Given the description of an element on the screen output the (x, y) to click on. 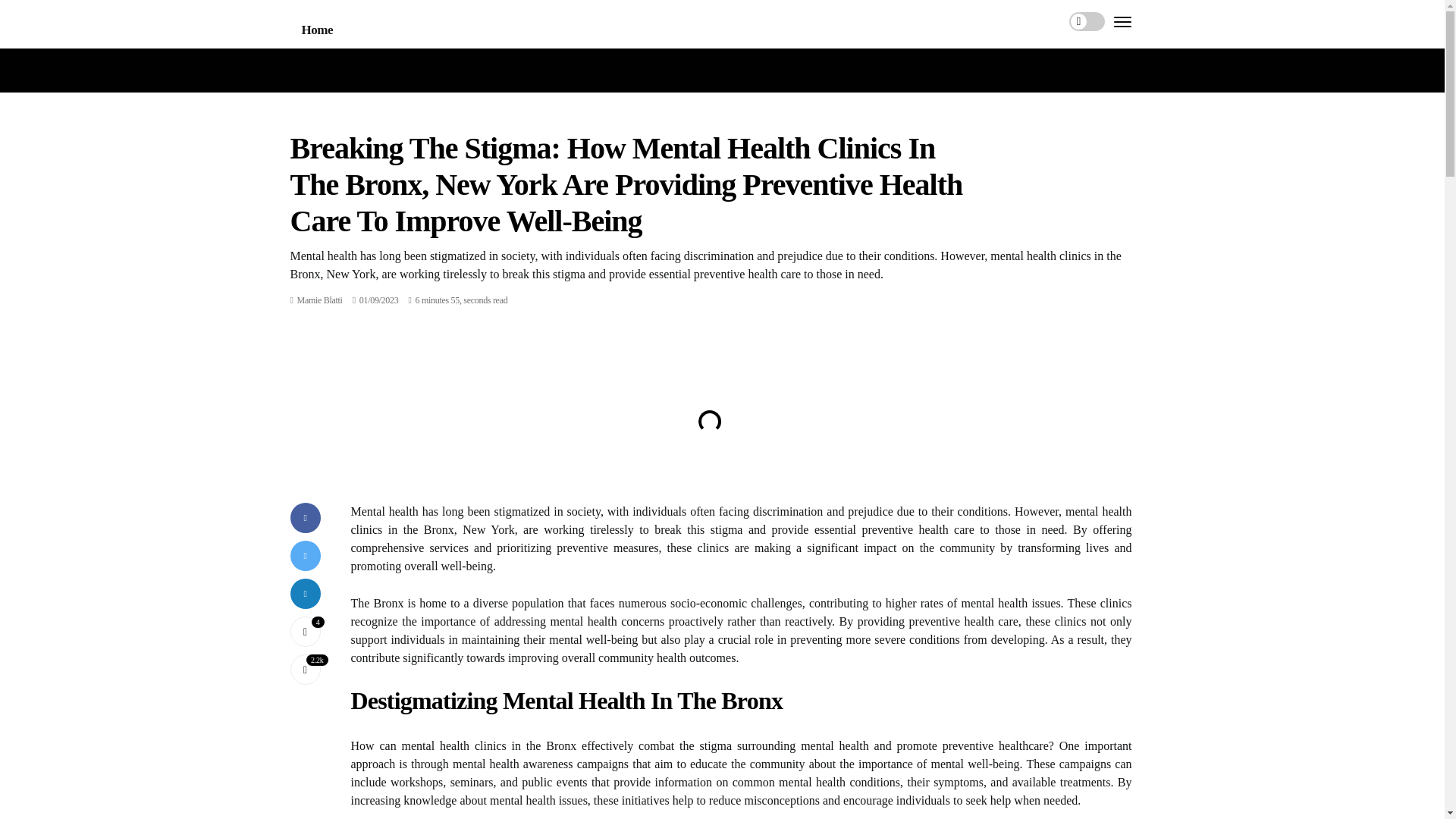
4 (304, 631)
Like (304, 631)
Mamie Blatti (319, 299)
Home (317, 30)
Posts by Mamie Blatti (319, 299)
